Given the description of an element on the screen output the (x, y) to click on. 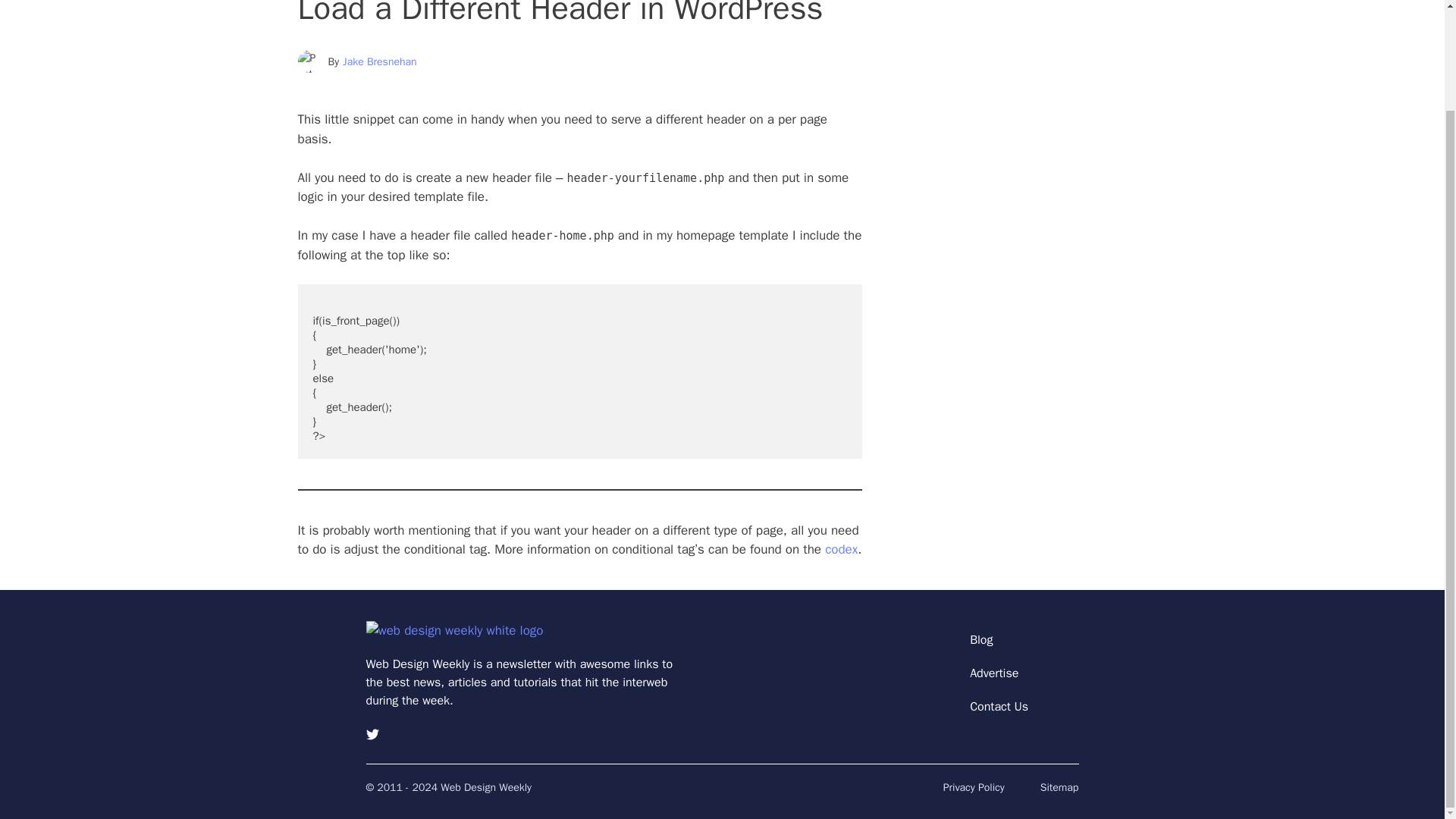
Blog (980, 639)
codex (841, 549)
Privacy Policy (973, 787)
Advertise (993, 672)
Sitemap (1059, 787)
Contact Us (998, 706)
Jake Bresnehan (379, 61)
